Given the description of an element on the screen output the (x, y) to click on. 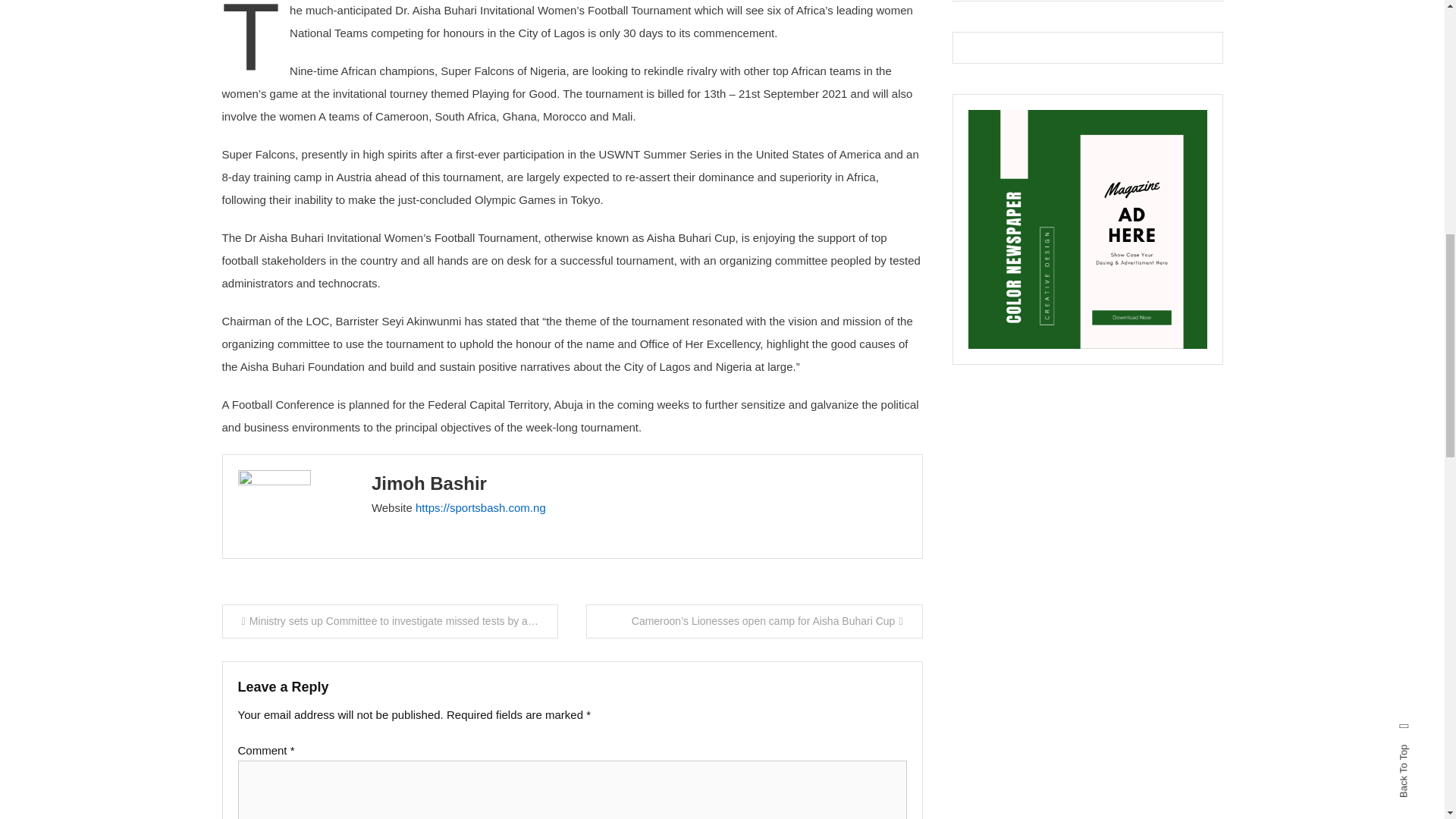
Posts by Jimoh Bashir (428, 483)
